Given the description of an element on the screen output the (x, y) to click on. 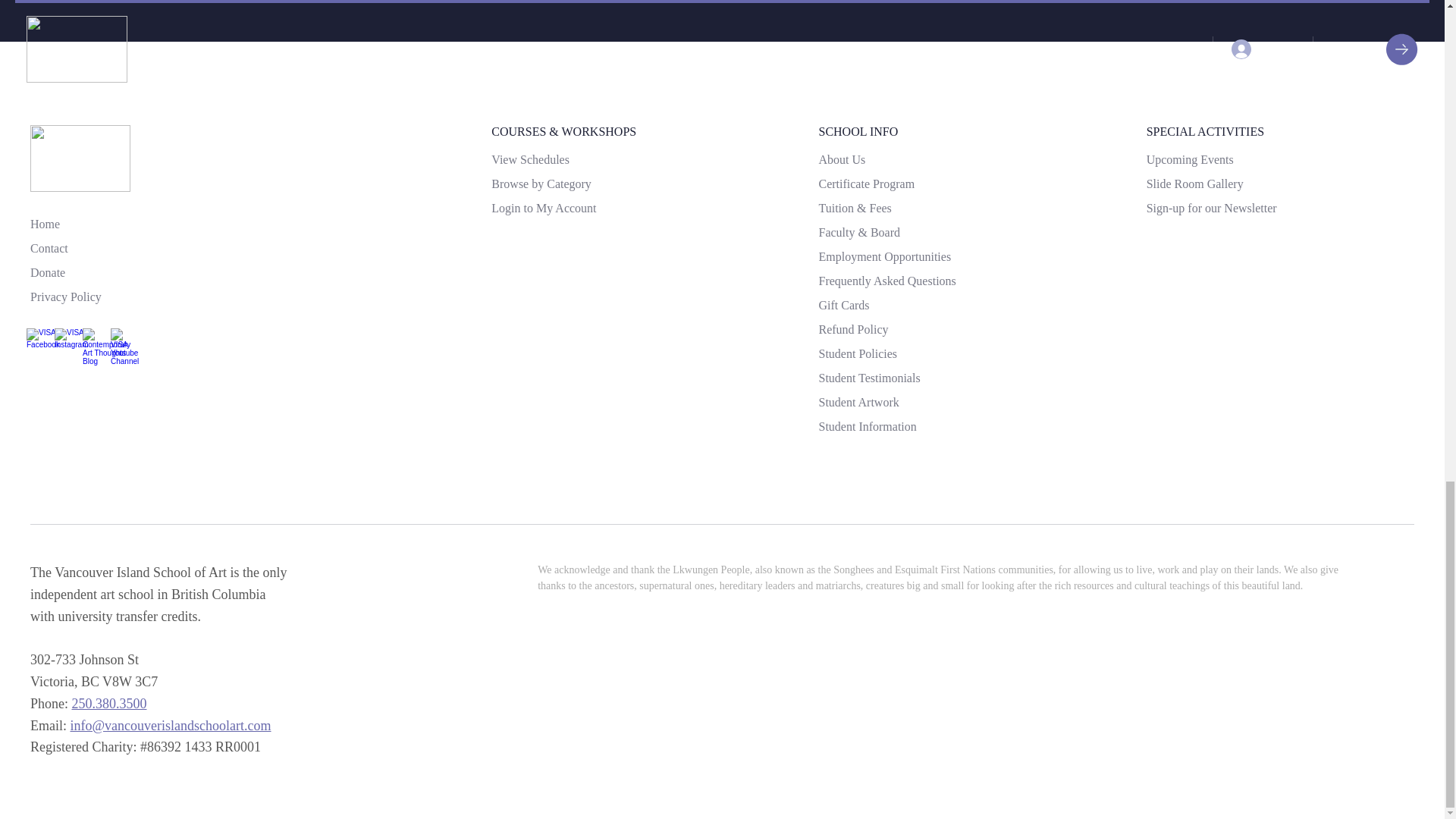
View Schedules (530, 159)
Student Testimonials (869, 378)
Donate (47, 272)
Slide Room Gallery (1195, 184)
Gift Cards (843, 305)
Upcoming Events (1190, 159)
Sign-up for our Newsletter (1211, 208)
Employment Opportunities (884, 256)
Frequently Asked Questions (886, 281)
Privacy Policy (65, 297)
